Given the description of an element on the screen output the (x, y) to click on. 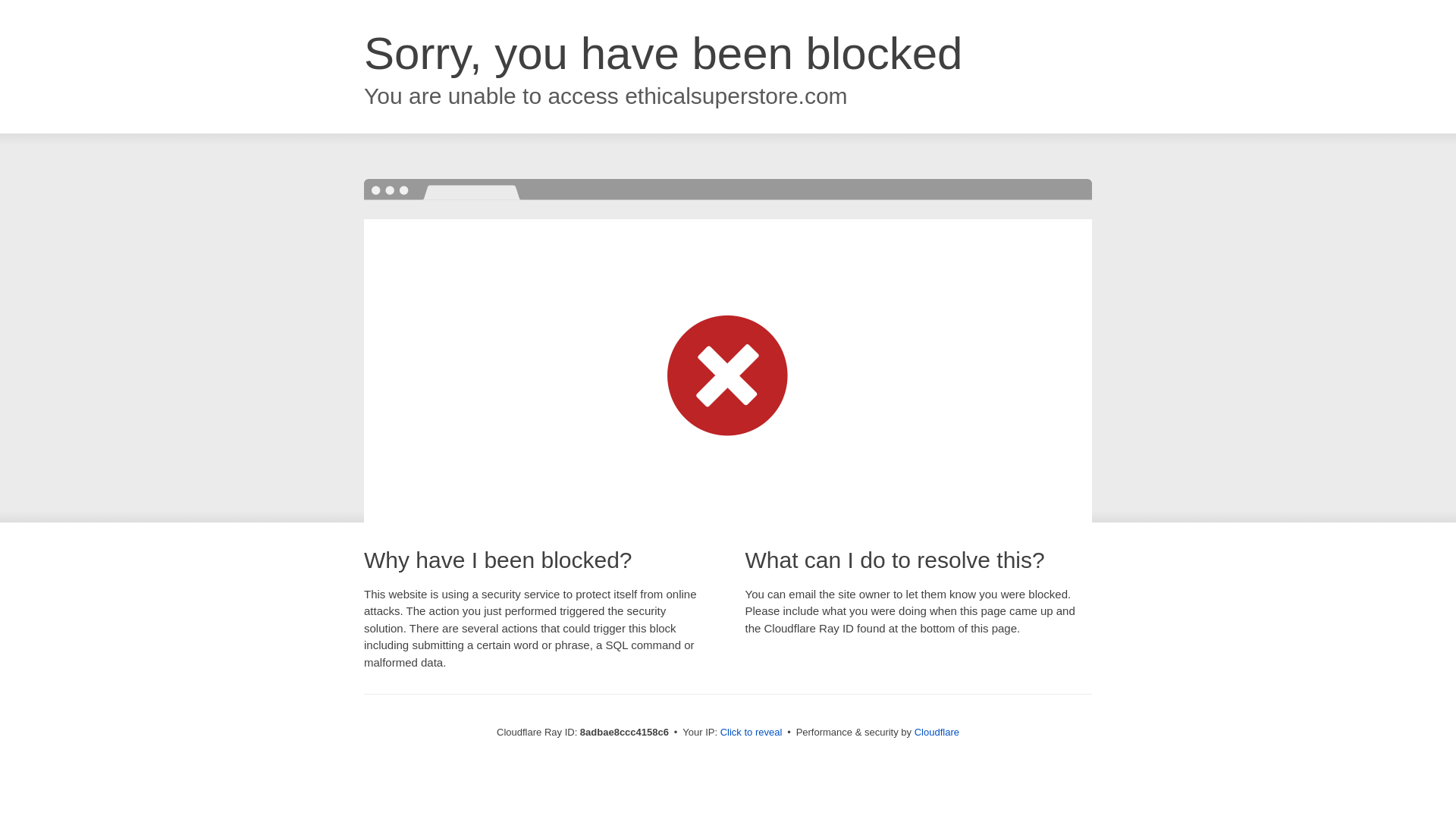
Click to reveal (751, 732)
Cloudflare (936, 731)
